Given the description of an element on the screen output the (x, y) to click on. 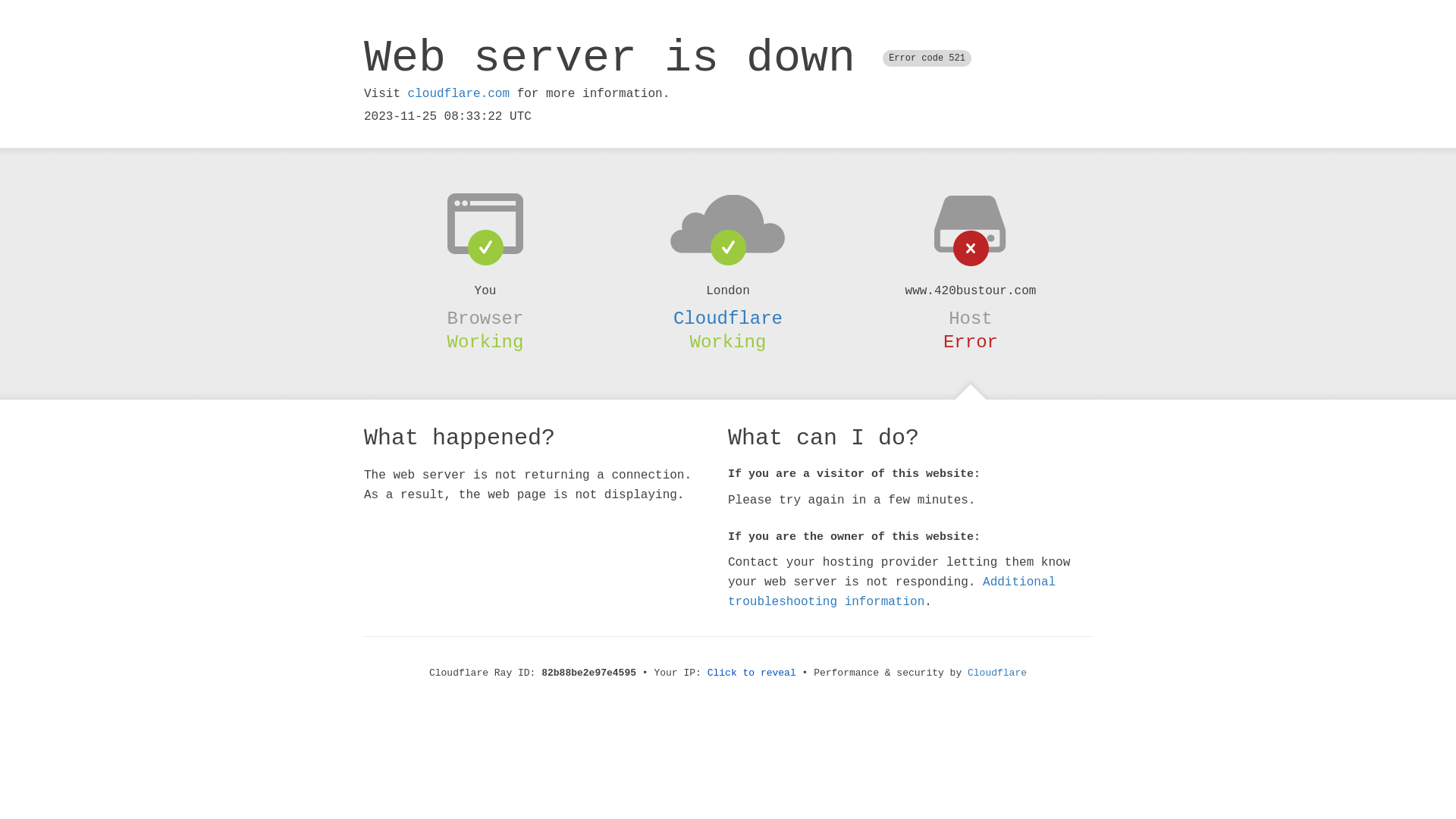
cloudflare.com Element type: text (458, 93)
Cloudflare Element type: text (996, 672)
Click to reveal Element type: text (751, 672)
Additional troubleshooting information Element type: text (891, 591)
Cloudflare Element type: text (727, 318)
